Given the description of an element on the screen output the (x, y) to click on. 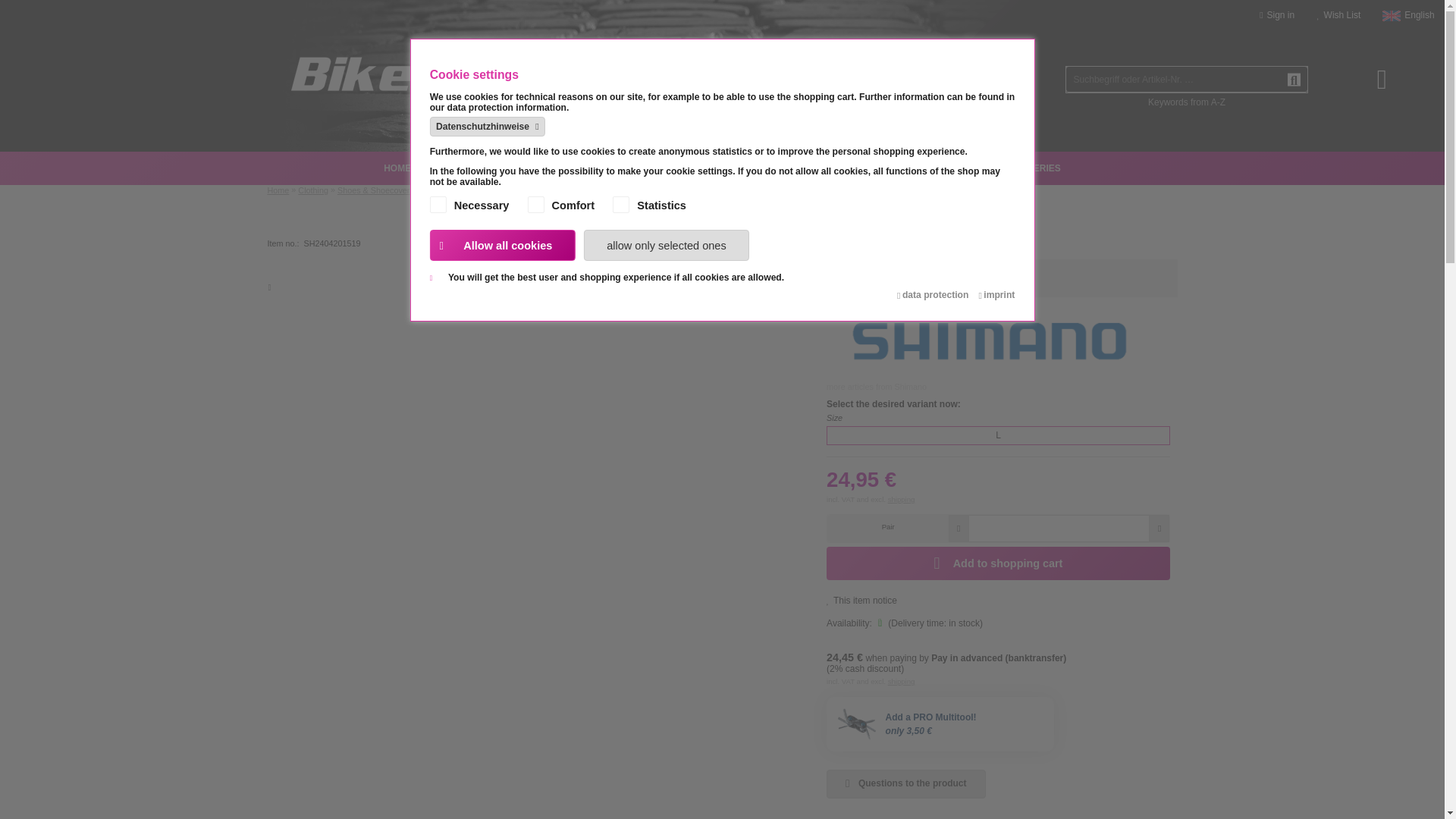
Bike-Onlineshop highend bikes at low prices (457, 168)
Zu Ihrem Merkzettel (1338, 14)
Keywords from A-Z (1186, 102)
Home (397, 168)
Login and register (1276, 14)
BICYCLES (457, 168)
Wish List (1338, 14)
Suche starten (1293, 79)
HOME (397, 168)
Keywords from A-Z (1186, 102)
Bike-Onlineshop - Home (464, 45)
Sign in (1276, 14)
